Given the description of an element on the screen output the (x, y) to click on. 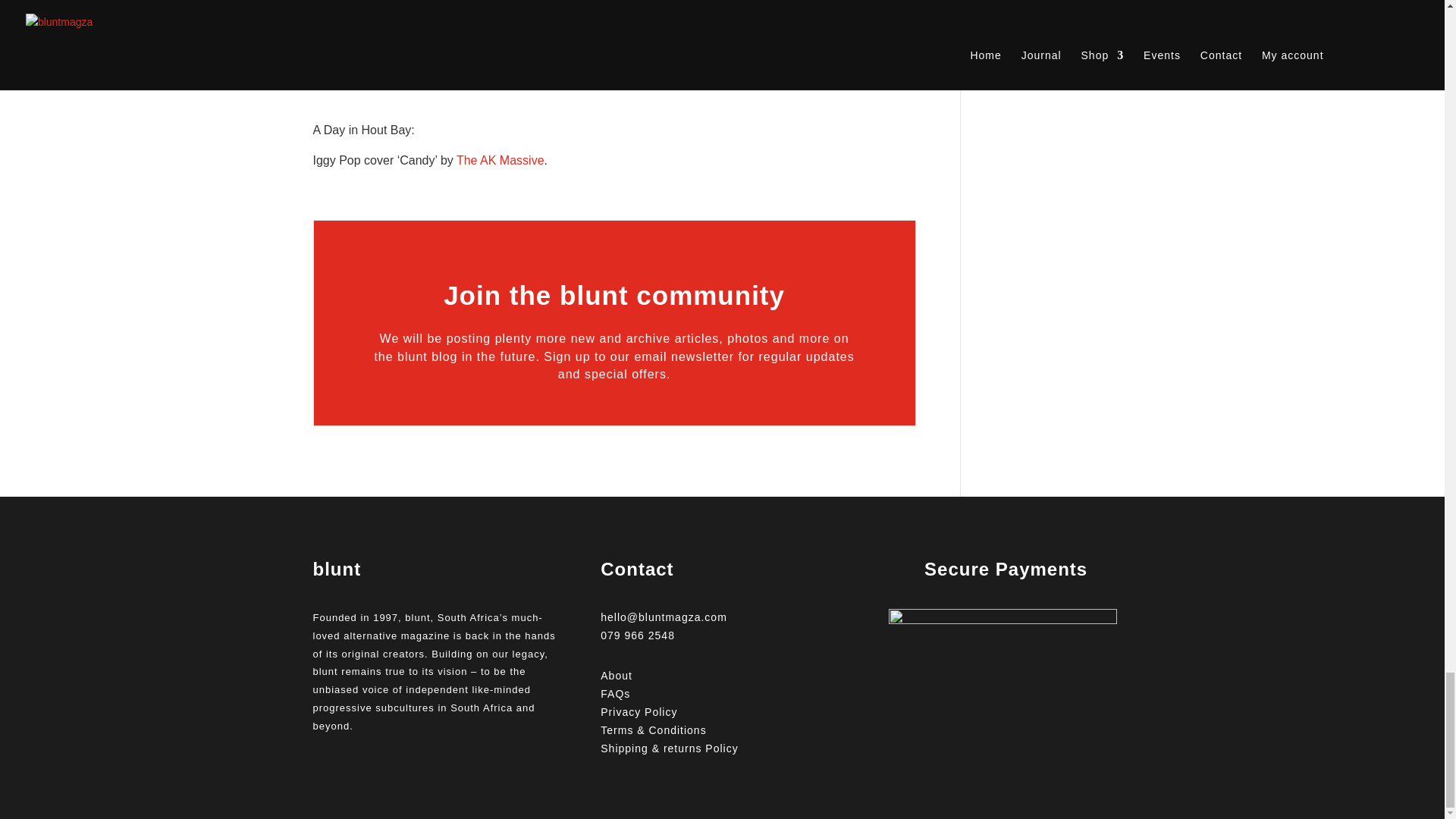
pay-types (1002, 664)
KVLO (699, 21)
The AK Massive (500, 160)
